Given the description of an element on the screen output the (x, y) to click on. 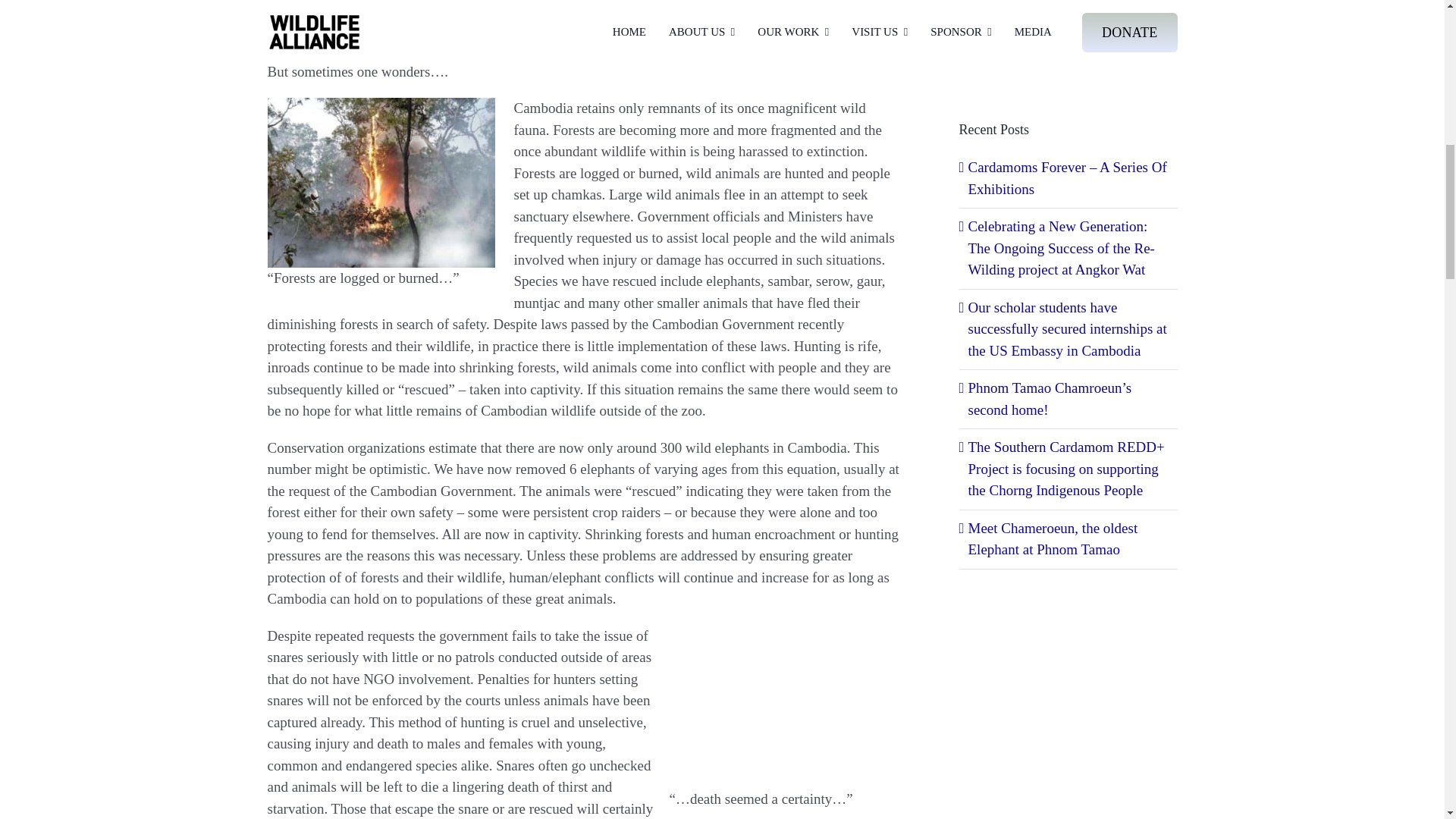
FareHarbor (1342, 64)
